Given the description of an element on the screen output the (x, y) to click on. 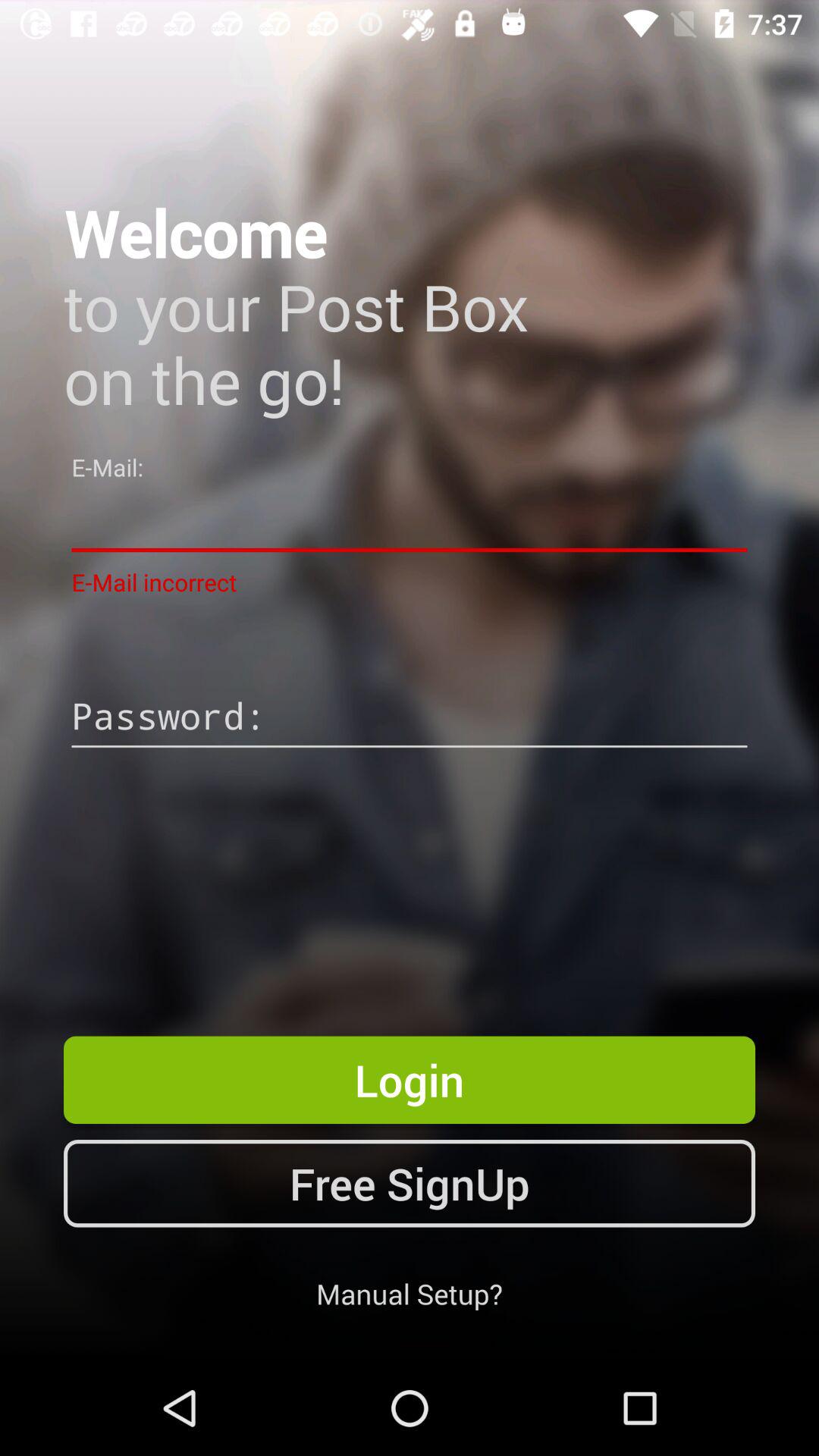
swipe to the login icon (409, 1079)
